Given the description of an element on the screen output the (x, y) to click on. 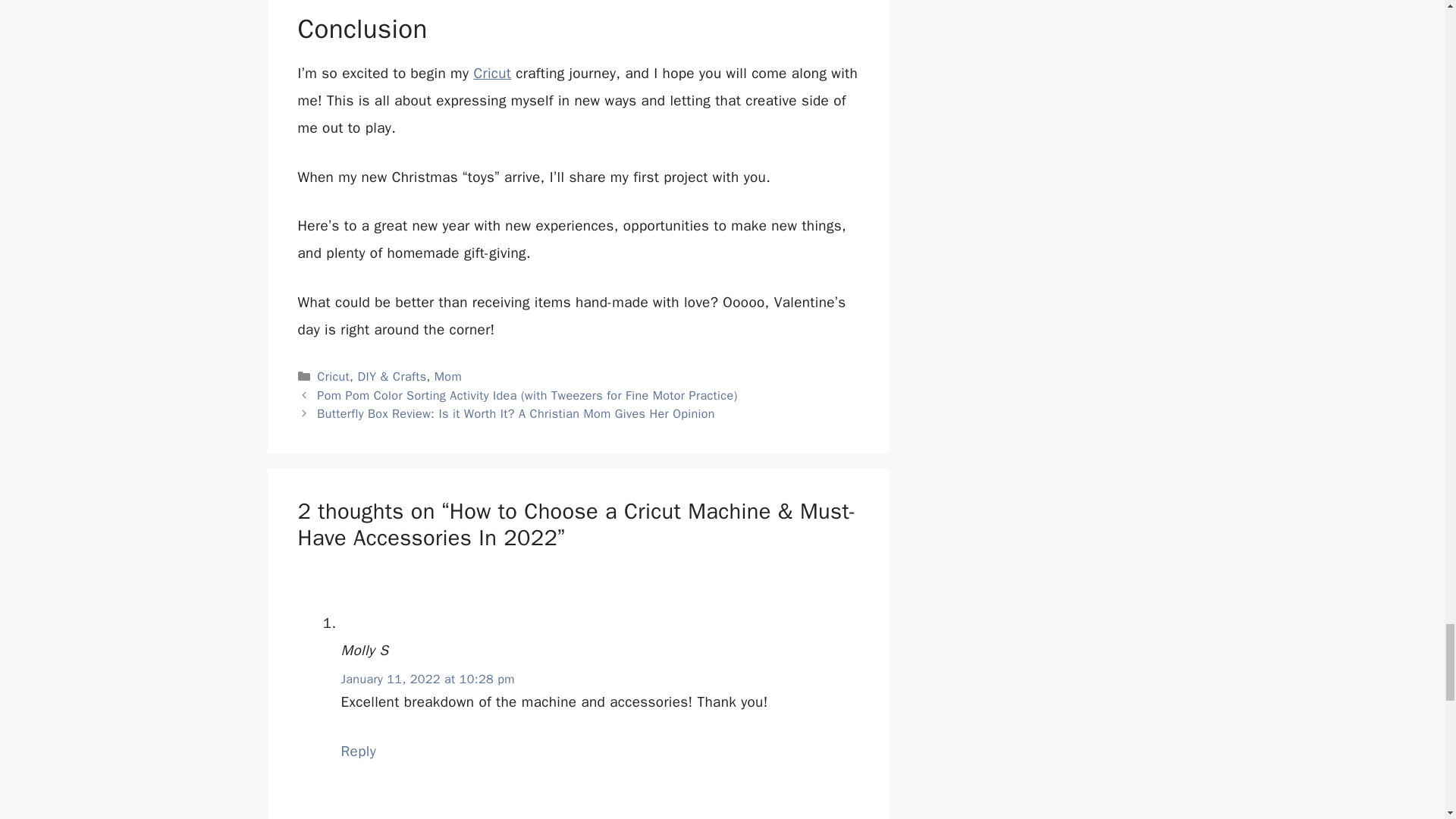
January 11, 2022 at 10:28 pm (427, 678)
Cricut (492, 73)
Cricut (333, 376)
Mom (447, 376)
Reply (358, 751)
